Given the description of an element on the screen output the (x, y) to click on. 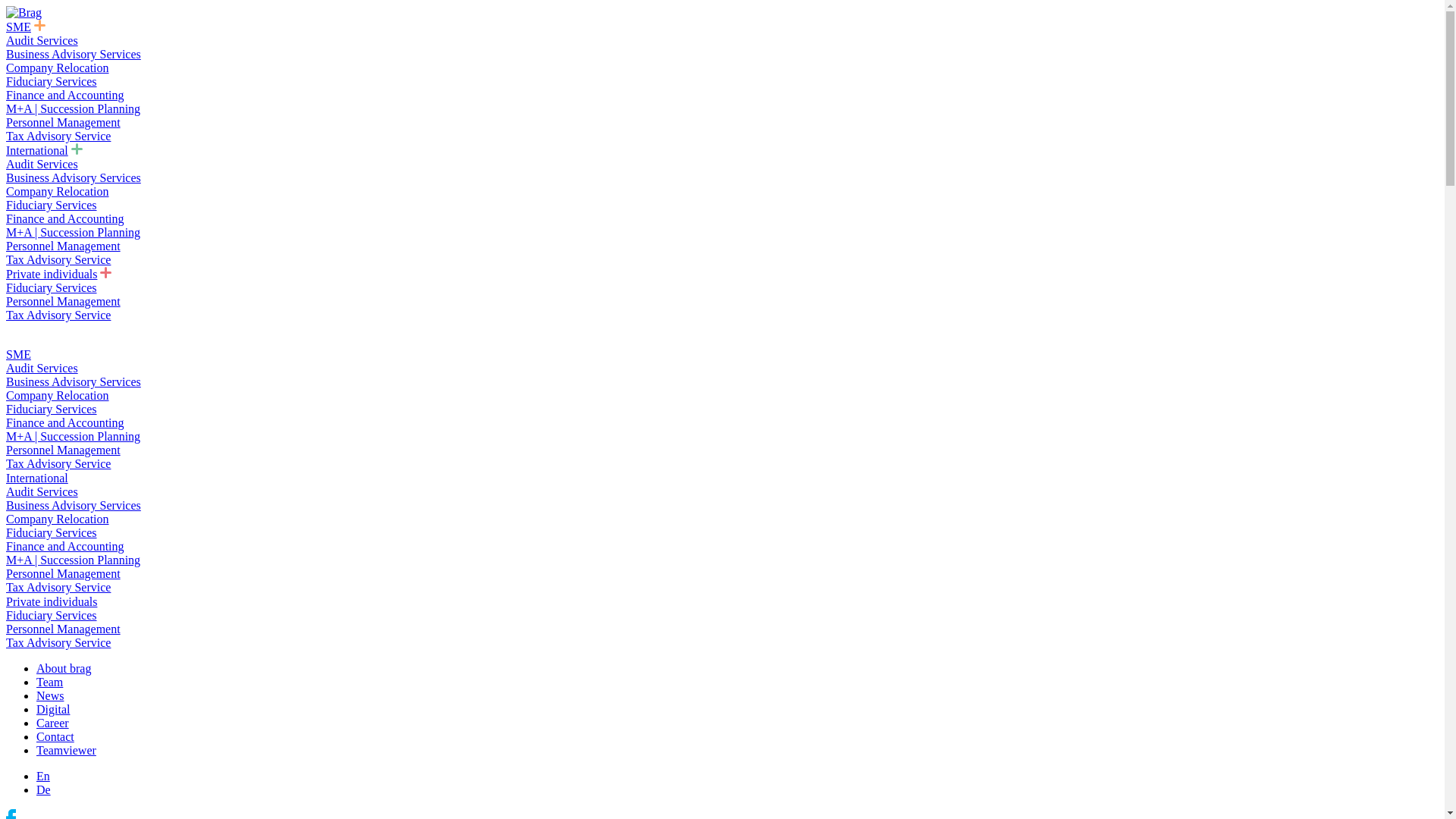
M+A | Succession Planning Element type: text (73, 108)
Tax Advisory Service Element type: text (58, 259)
News Element type: text (49, 695)
Personnel Management Element type: text (63, 449)
Contact Element type: text (55, 736)
M+A | Succession Planning Element type: text (73, 559)
Business Advisory Services Element type: text (73, 53)
Personnel Management Element type: text (63, 122)
De Element type: text (43, 789)
M+A | Succession Planning Element type: text (73, 435)
Audit Services Element type: text (42, 491)
Digital Element type: text (52, 708)
Company Relocation Element type: text (57, 395)
Finance and Accounting Element type: text (65, 545)
International Element type: text (37, 477)
Finance and Accounting Element type: text (65, 422)
Fiduciary Services Element type: text (51, 81)
About brag Element type: text (63, 668)
Audit Services Element type: text (42, 367)
Personnel Management Element type: text (63, 245)
Fiduciary Services Element type: text (51, 408)
Tax Advisory Service Element type: text (58, 135)
Career Element type: text (52, 722)
Audit Services Element type: text (42, 40)
Business Advisory Services Element type: text (73, 177)
Audit Services Element type: text (42, 163)
Business Advisory Services Element type: text (73, 504)
Company Relocation Element type: text (57, 67)
Private individuals Element type: text (51, 601)
Team Element type: text (49, 681)
Tax Advisory Service Element type: text (58, 314)
Tax Advisory Service Element type: text (58, 642)
Tax Advisory Service Element type: text (58, 586)
SME Element type: text (18, 26)
Finance and Accounting Element type: text (65, 94)
Business Advisory Services Element type: text (73, 381)
About brag Element type: hover (23, 12)
Finance and Accounting Element type: text (65, 218)
Private individuals Element type: text (51, 273)
Fiduciary Services Element type: text (51, 287)
Personnel Management Element type: text (63, 573)
Tax Advisory Service Element type: text (58, 463)
SME Element type: text (18, 354)
Personnel Management Element type: text (63, 628)
Fiduciary Services Element type: text (51, 614)
International Element type: text (37, 150)
Fiduciary Services Element type: text (51, 532)
M+A | Succession Planning Element type: text (73, 231)
Personnel Management Element type: text (63, 300)
Company Relocation Element type: text (57, 191)
En Element type: text (43, 775)
Fiduciary Services Element type: text (51, 204)
Company Relocation Element type: text (57, 518)
Teamviewer Element type: text (66, 749)
